Given the description of an element on the screen output the (x, y) to click on. 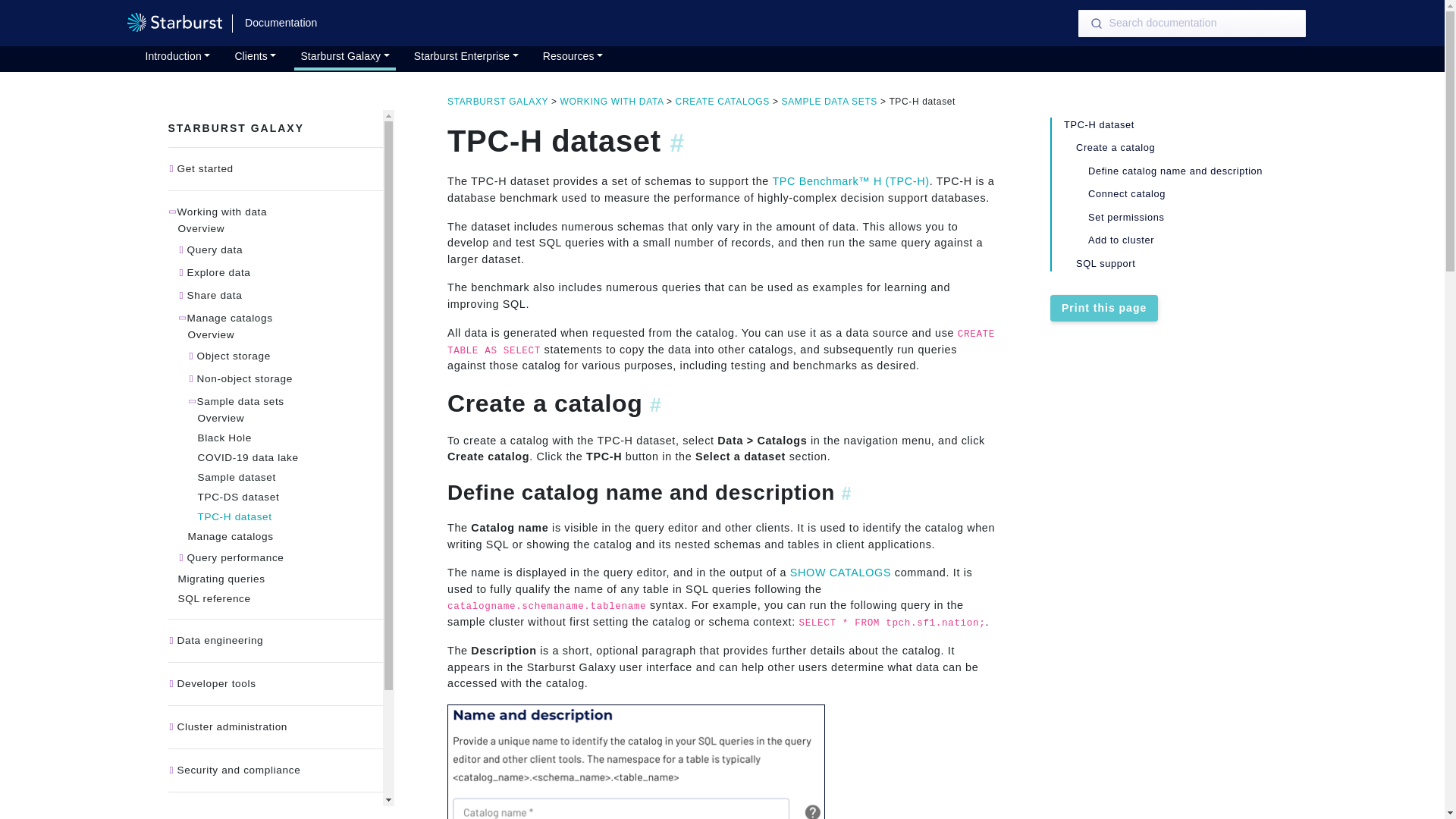
Clients (255, 57)
Starburst Galaxy (344, 57)
Introduction (177, 57)
Documentation (280, 22)
